Given the description of an element on the screen output the (x, y) to click on. 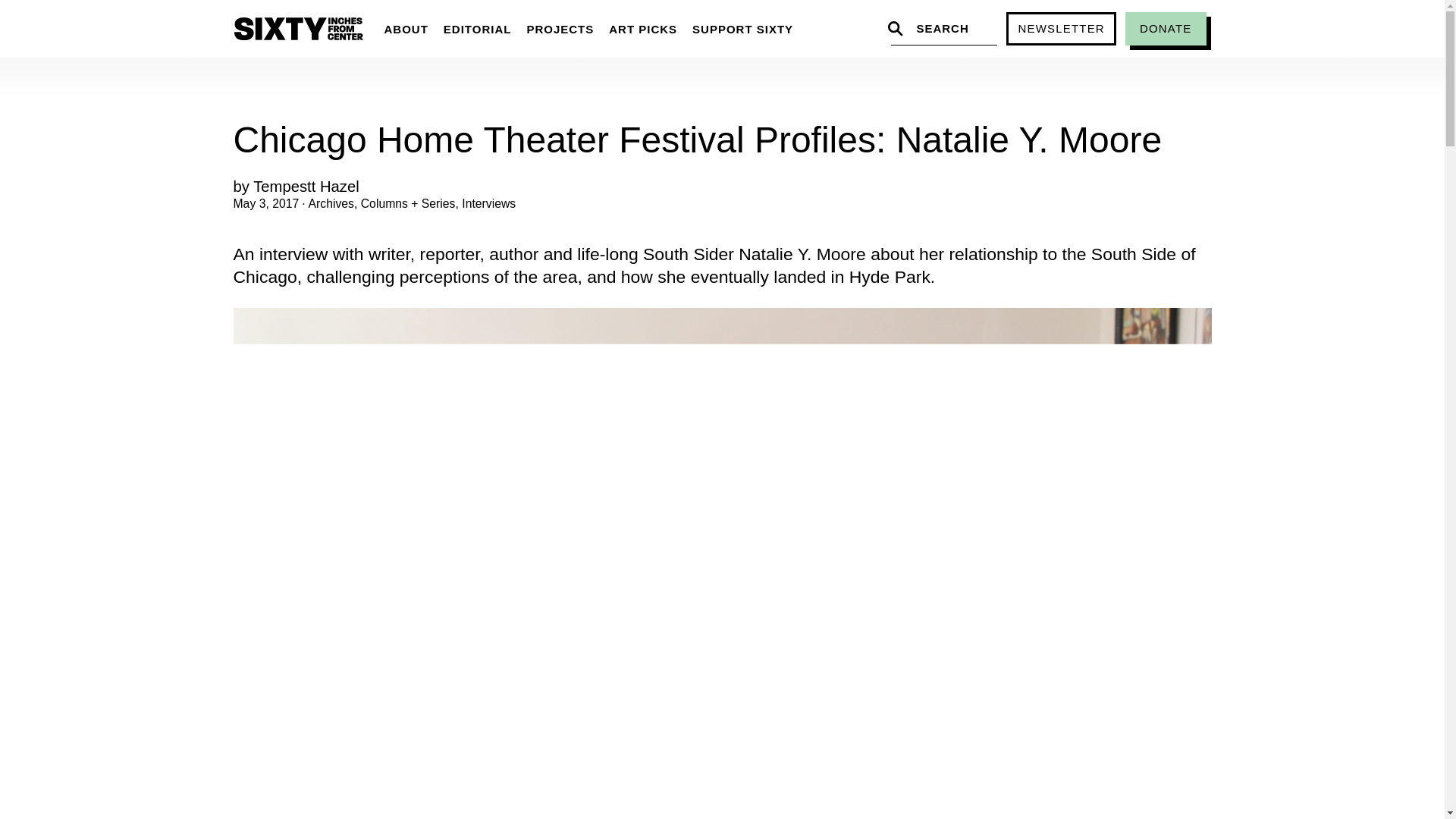
ABOUT (405, 29)
EDITORIAL (477, 29)
